Given the description of an element on the screen output the (x, y) to click on. 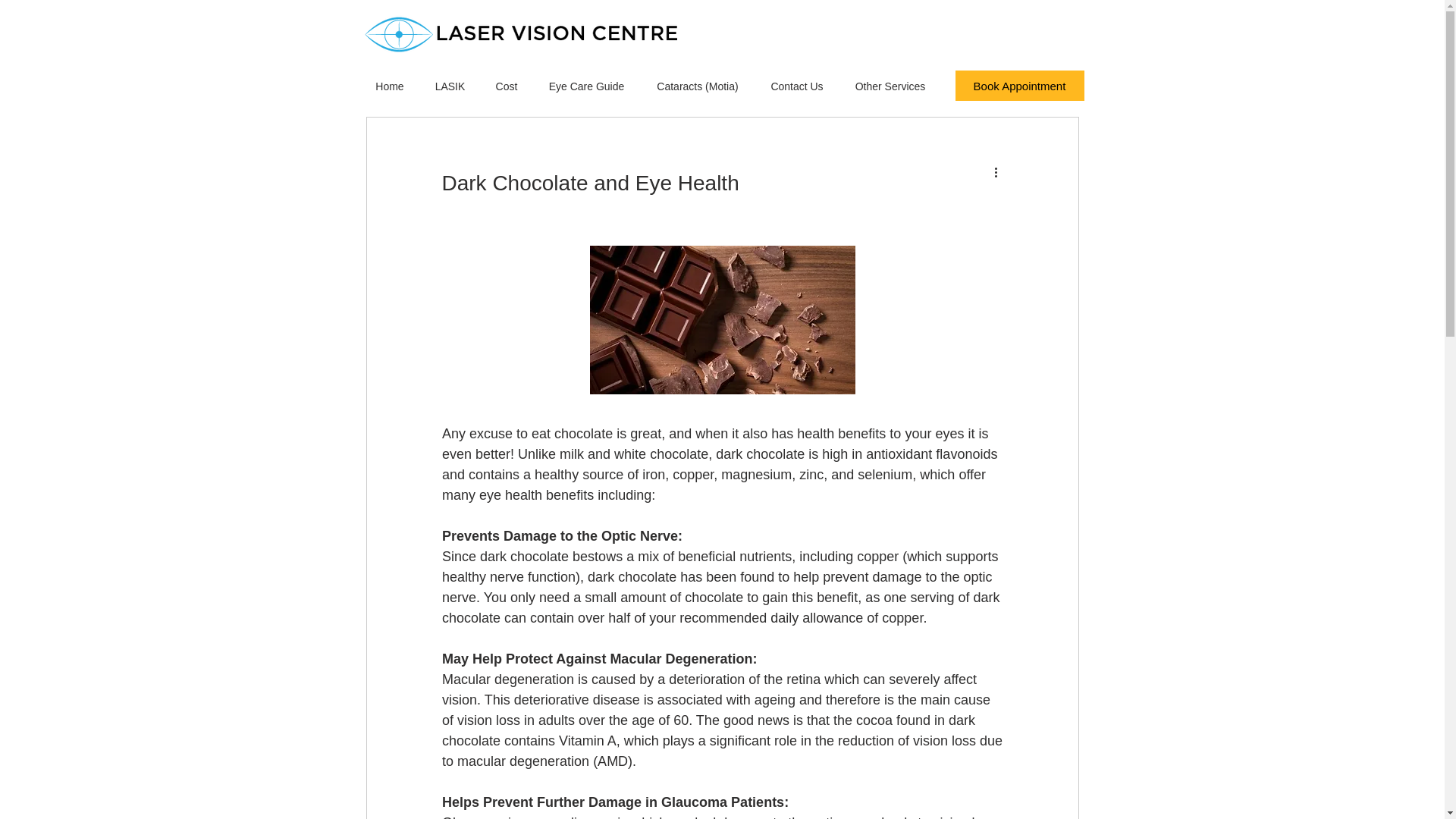
Book Appointment (1019, 85)
Other Services (889, 86)
Cost (506, 86)
LASIK (450, 86)
Home (389, 86)
Contact Us (797, 86)
Eye Care Guide (586, 86)
